Given the description of an element on the screen output the (x, y) to click on. 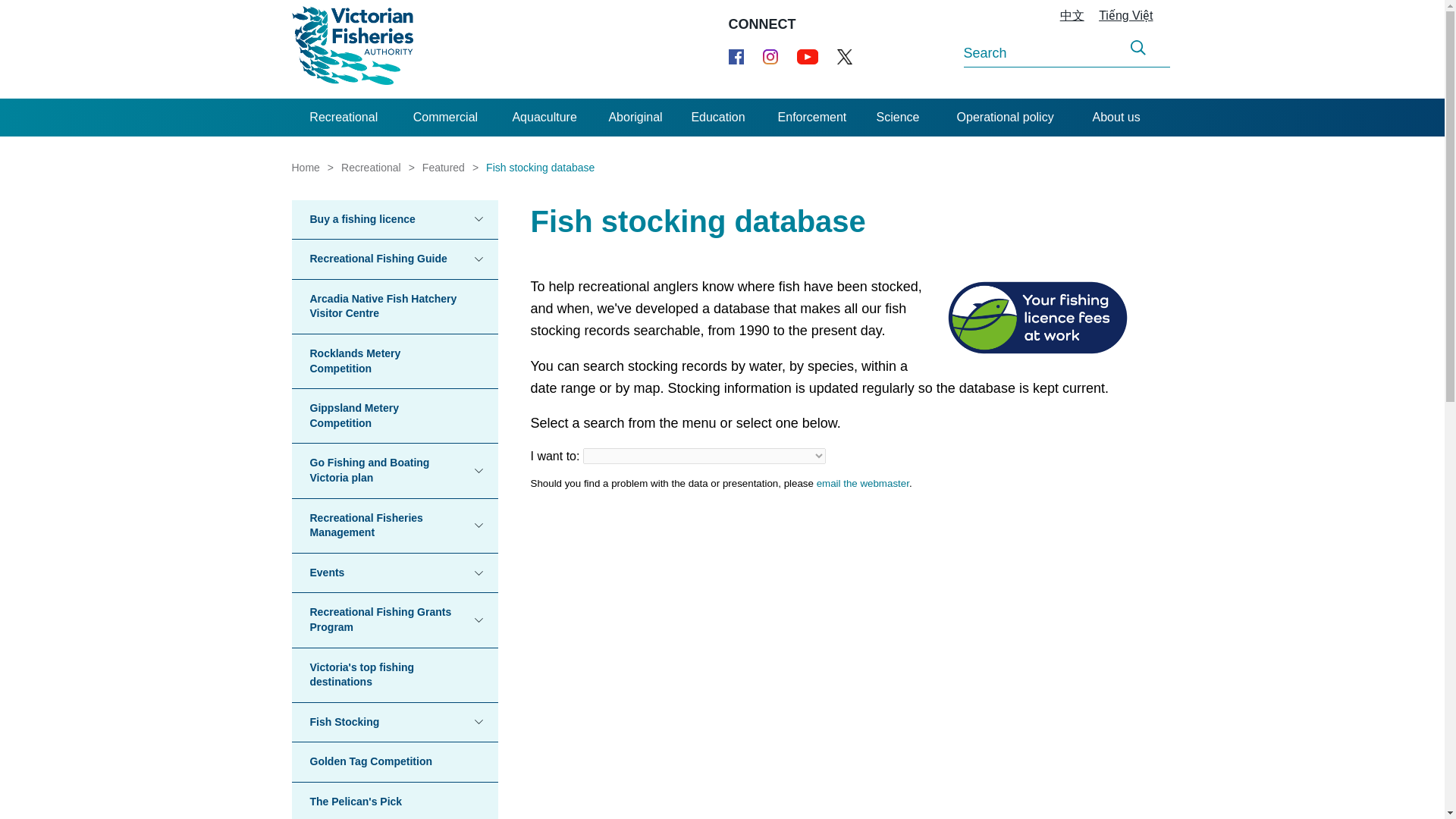
Search (1137, 47)
YouTube (806, 56)
VFA (351, 48)
YouTube (806, 56)
Instagram (769, 56)
Facebook (735, 56)
Commercial (445, 117)
Facebook (735, 56)
Instagram (769, 56)
Home - VFA (351, 48)
